Given the description of an element on the screen output the (x, y) to click on. 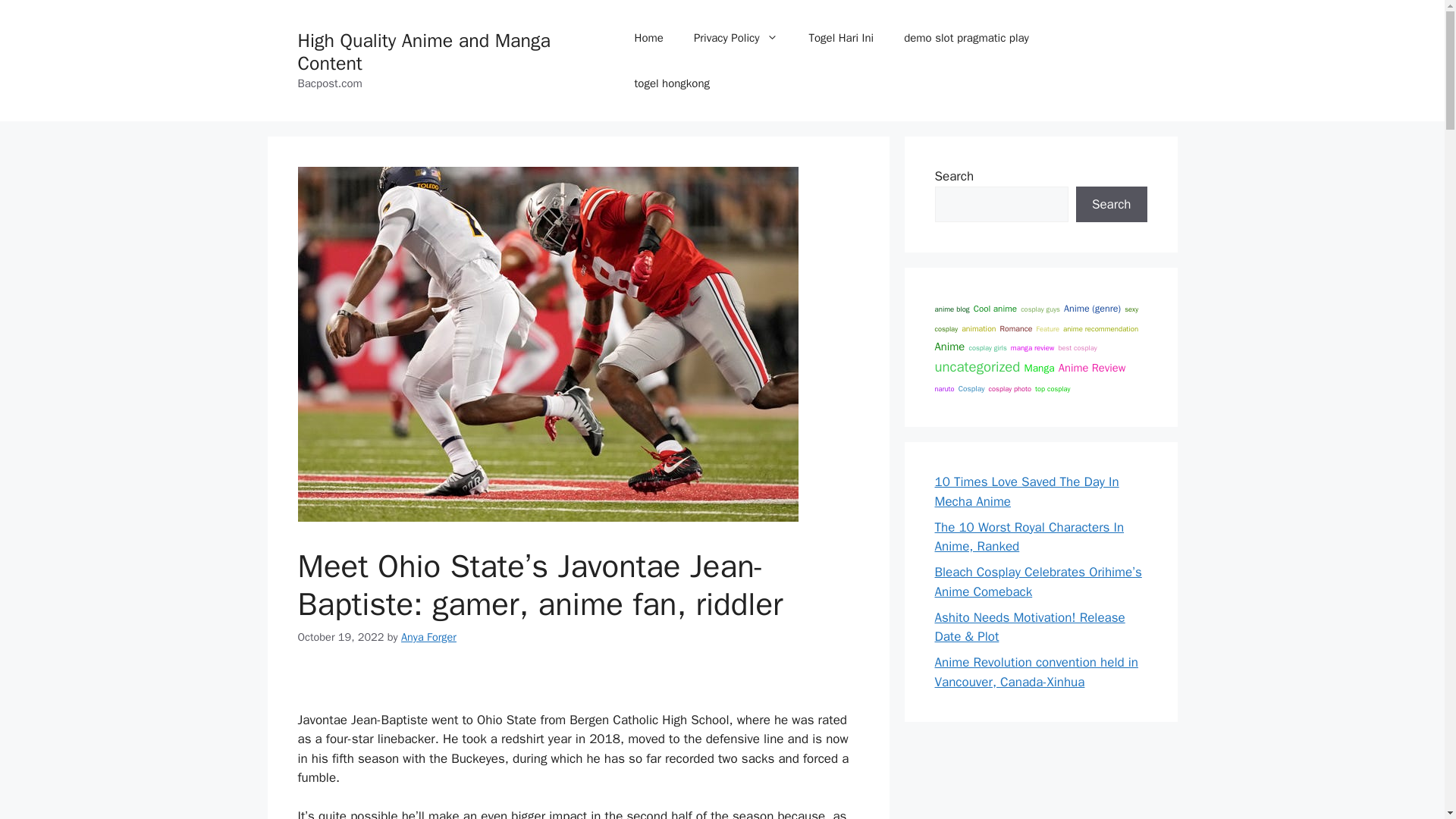
manga review (1032, 347)
best cosplay (1077, 347)
naruto (943, 388)
10 Times Love Saved The Day In Mecha Anime (1026, 491)
sexy cosplay (1036, 318)
top cosplay (1052, 388)
Manga (1038, 367)
togel hongkong (672, 83)
Anime (948, 345)
demo slot pragmatic play (965, 37)
